Given the description of an element on the screen output the (x, y) to click on. 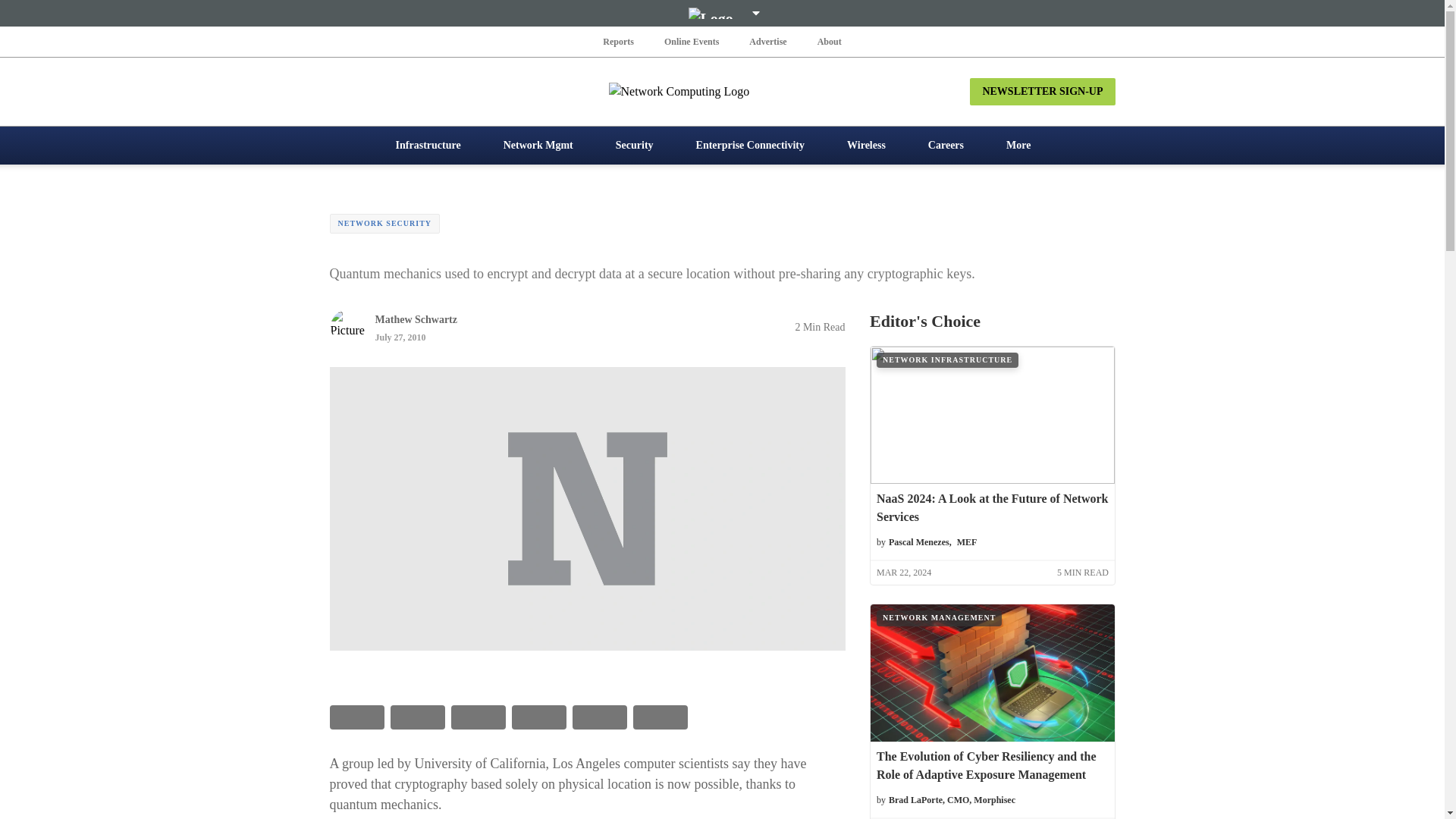
Online Events (691, 41)
Picture of Mathew Schwartz (347, 326)
Advertise (767, 41)
NEWSLETTER SIGN-UP (1042, 90)
Reports (618, 41)
Network Computing Logo (721, 91)
About (828, 41)
